Given the description of an element on the screen output the (x, y) to click on. 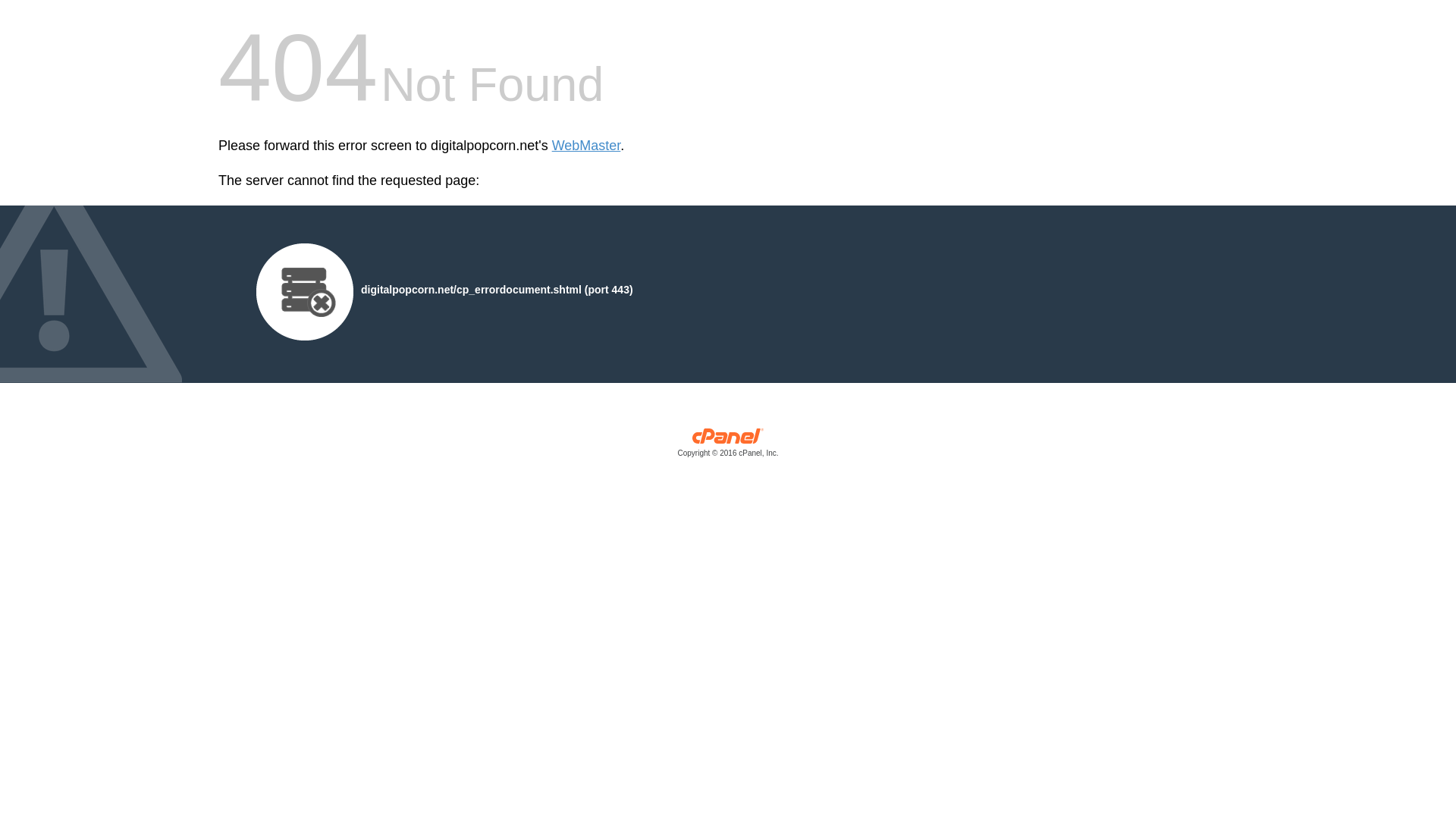
WebMaster (586, 145)
cPanel, Inc. (727, 446)
